Given the description of an element on the screen output the (x, y) to click on. 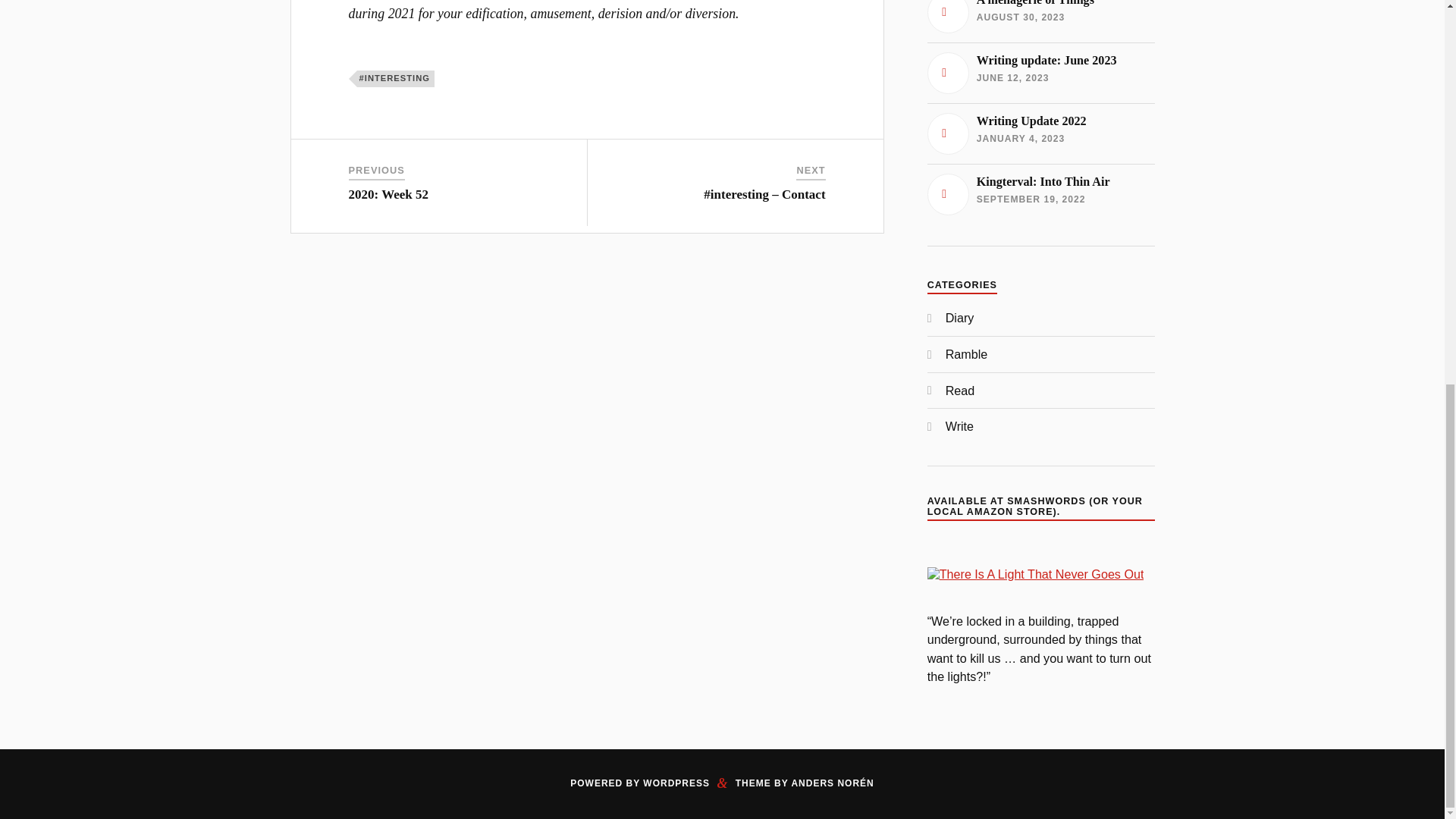
WORDPRESS (676, 783)
Diary (959, 317)
Write (1040, 72)
Read (959, 426)
Ramble (1040, 132)
2020: Week 52 (1040, 193)
